Given the description of an element on the screen output the (x, y) to click on. 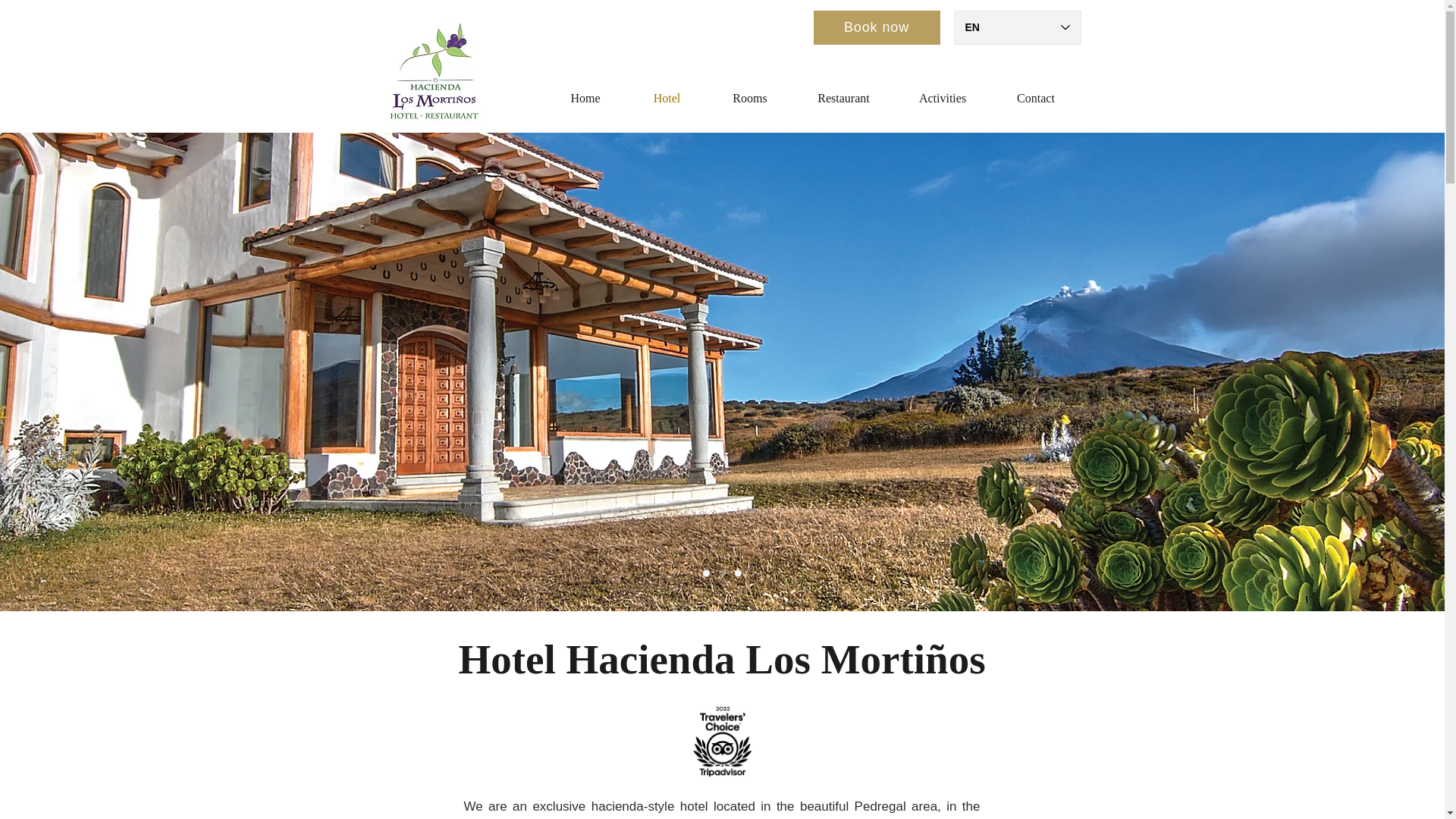
Hotel (666, 98)
Rooms (749, 98)
Home (585, 98)
Activities (943, 98)
Embedded Content (730, 754)
Restaurant (844, 98)
Contact (1035, 98)
Book now (875, 27)
